Given the description of an element on the screen output the (x, y) to click on. 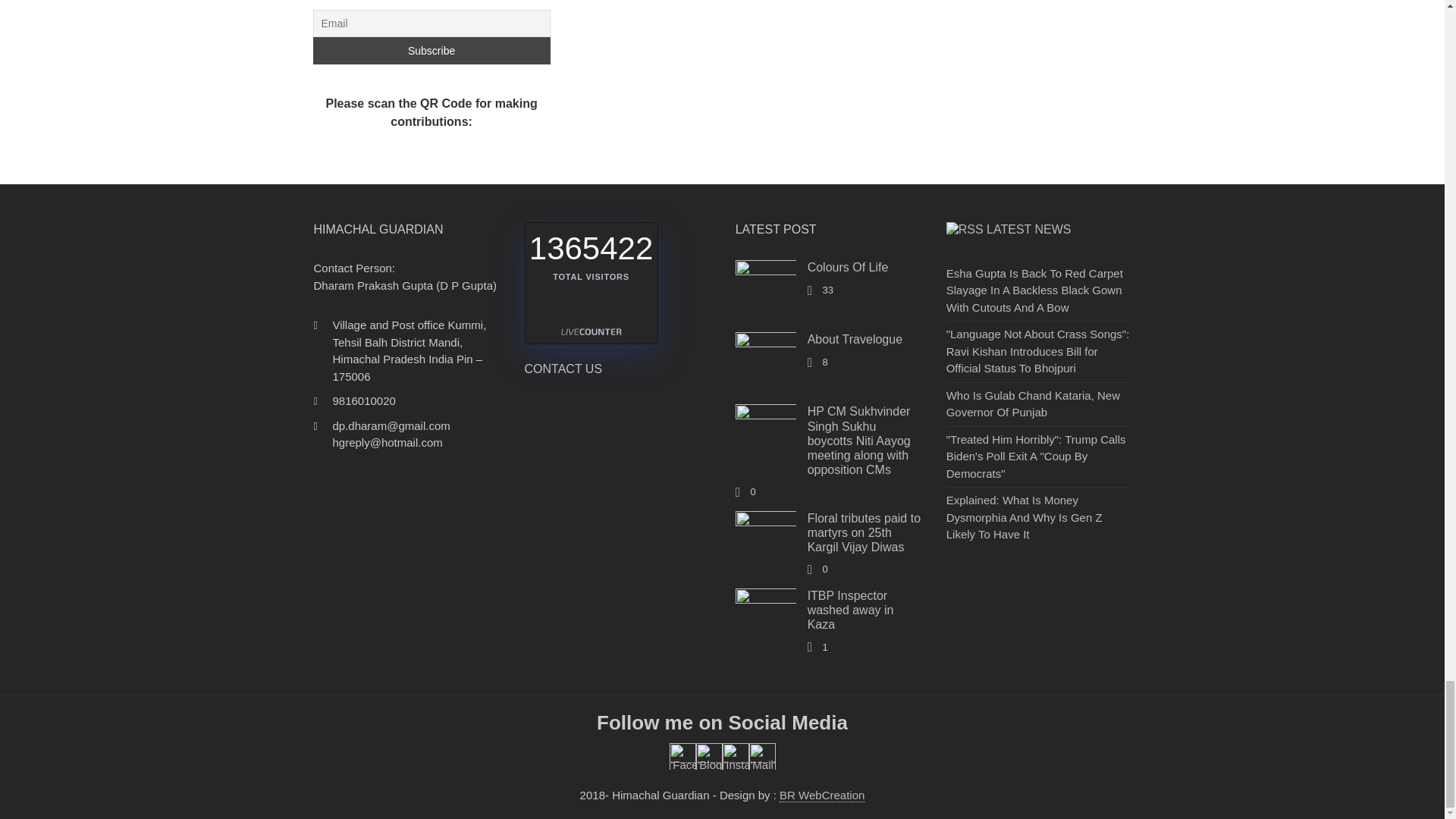
'Facebook" (681, 755)
'Mail" (762, 755)
Subscribe (431, 50)
'Blogger" (708, 755)
'Instagram" (735, 755)
